Given the description of an element on the screen output the (x, y) to click on. 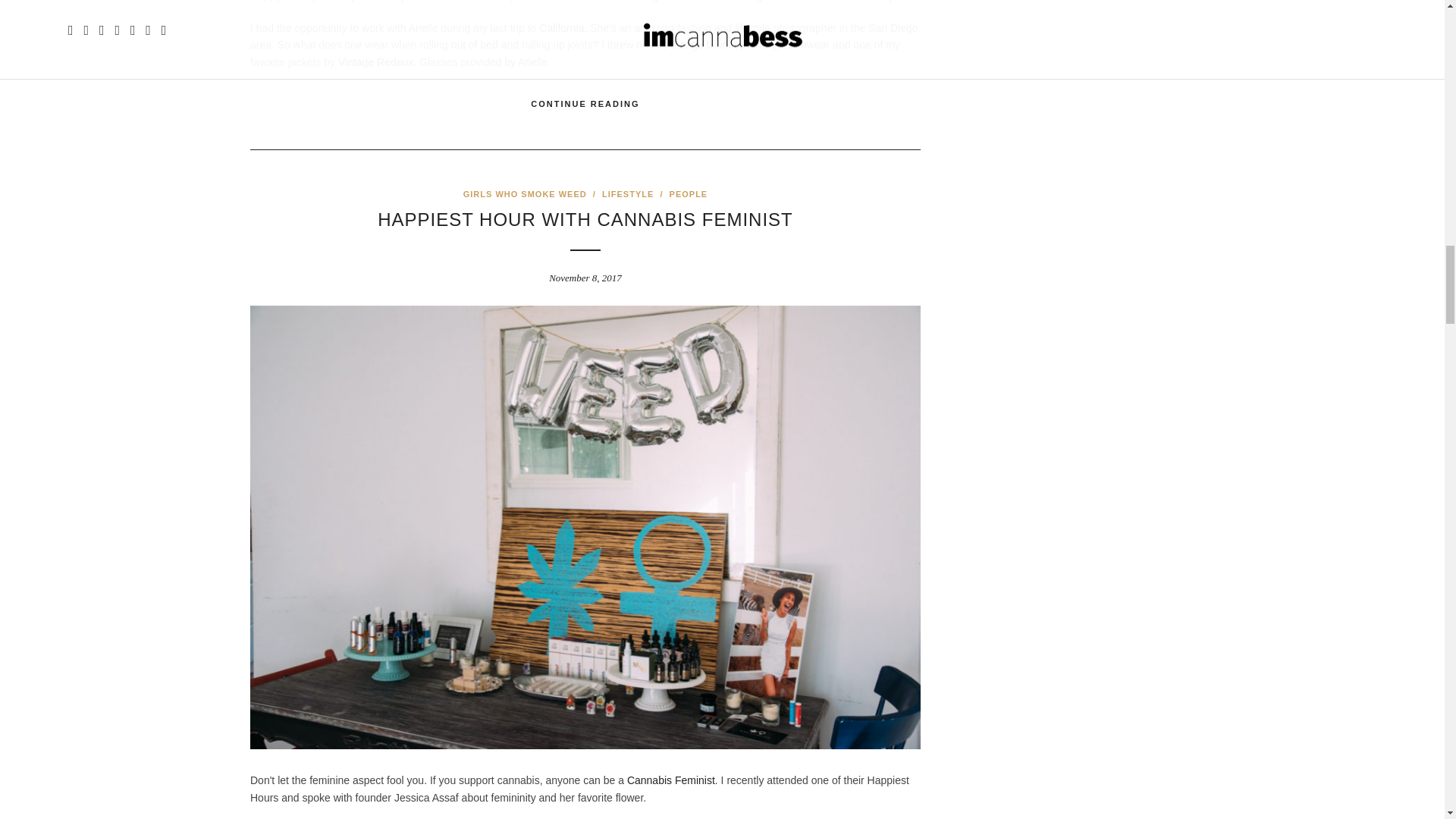
Triangl swimwear (772, 1)
Happiest Hour with Cannabis Feminist (585, 219)
Arielle Levy (865, 1)
California (560, 28)
